Given the description of an element on the screen output the (x, y) to click on. 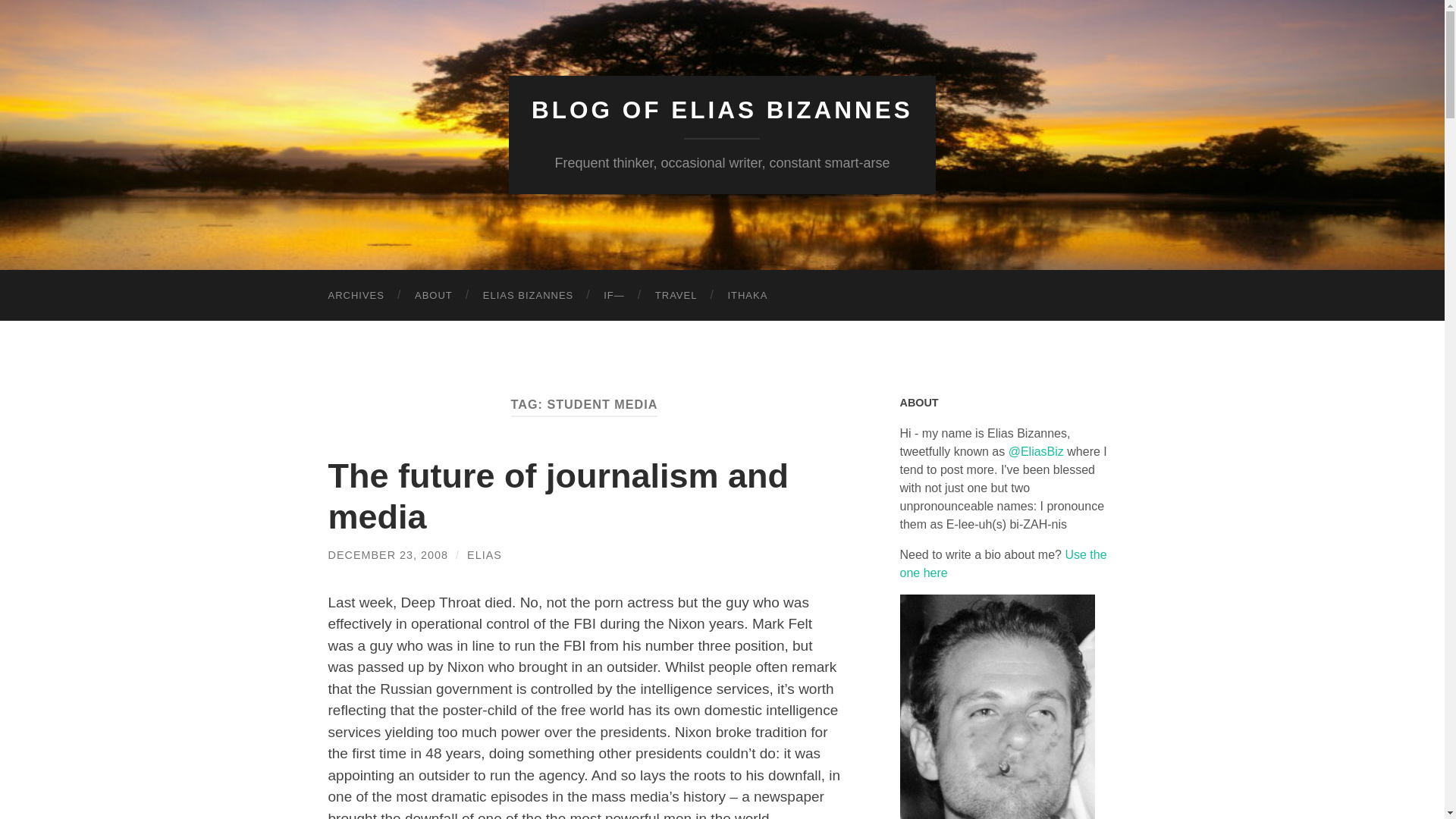
Posts by elias (484, 554)
DECEMBER 23, 2008 (387, 554)
ARCHIVES (355, 295)
ELIAS BIZANNES (527, 295)
BLOG OF ELIAS BIZANNES (721, 109)
ABOUT (432, 295)
TRAVEL (676, 295)
ITHAKA (747, 295)
The future of journalism and media (558, 496)
ELIAS (484, 554)
